Given the description of an element on the screen output the (x, y) to click on. 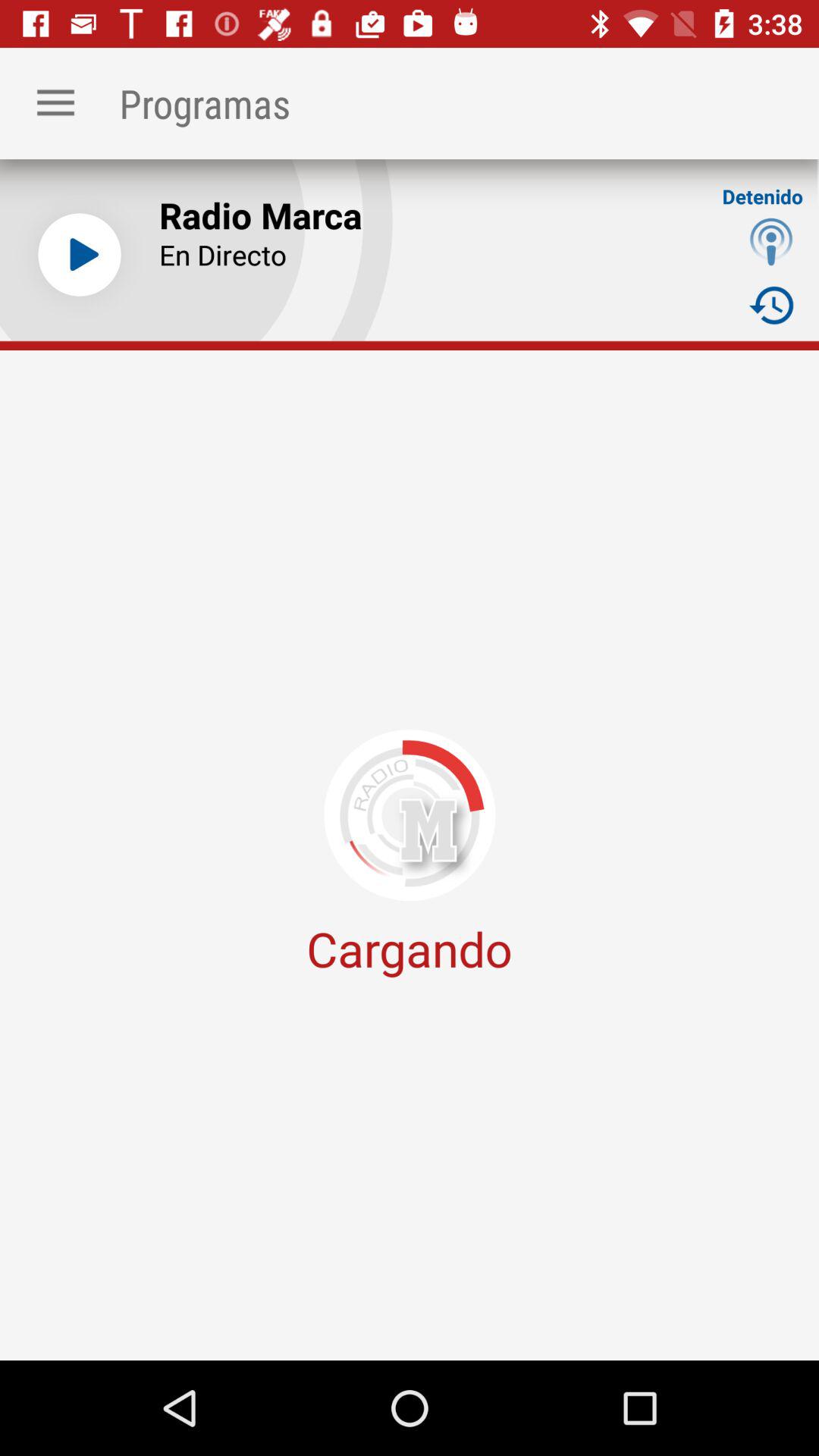
launch the item below detenido icon (771, 241)
